Given the description of an element on the screen output the (x, y) to click on. 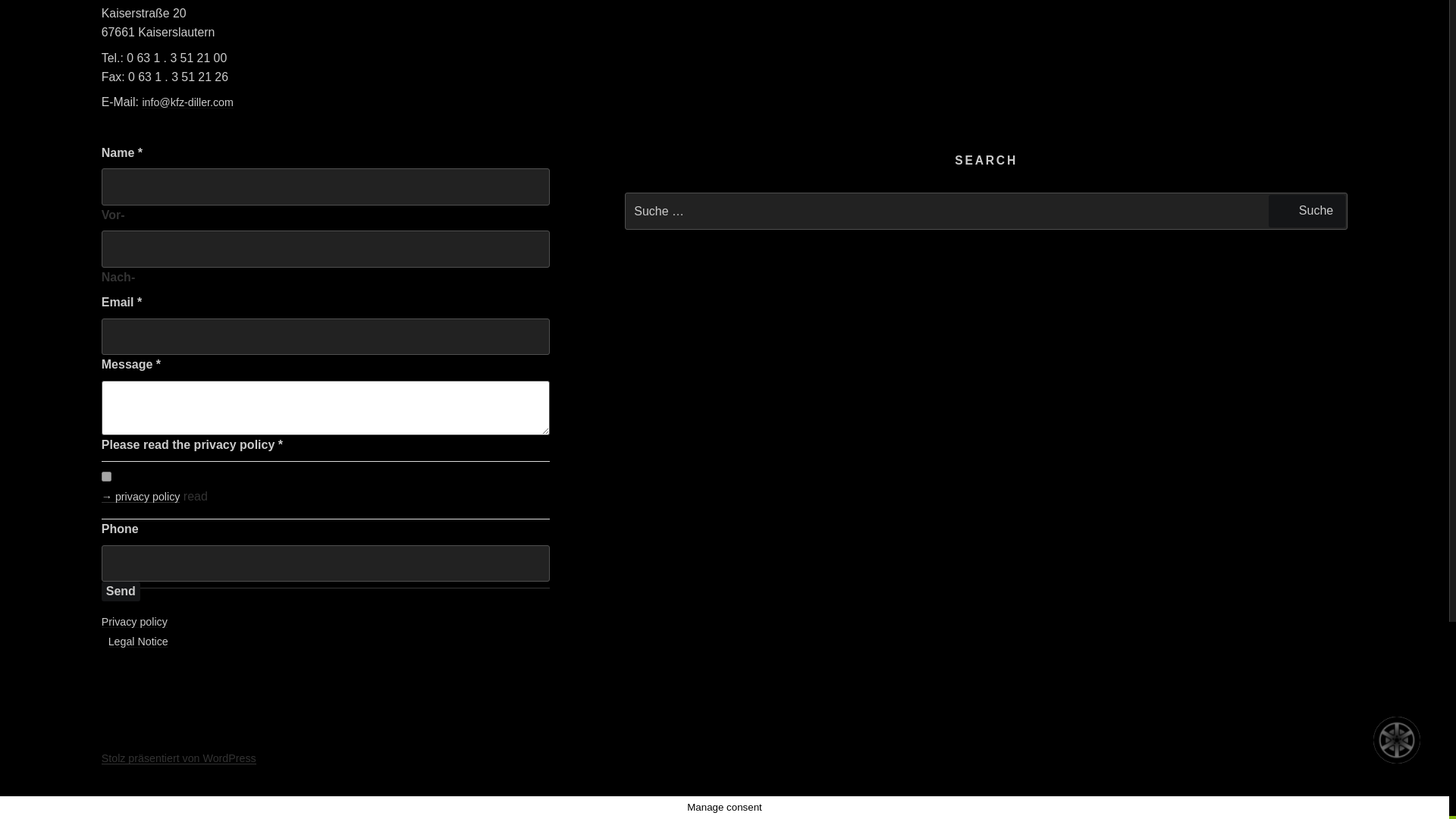
Privacy policy (134, 621)
Legal Notice (137, 641)
Suche (1306, 210)
Send (120, 591)
